Given the description of an element on the screen output the (x, y) to click on. 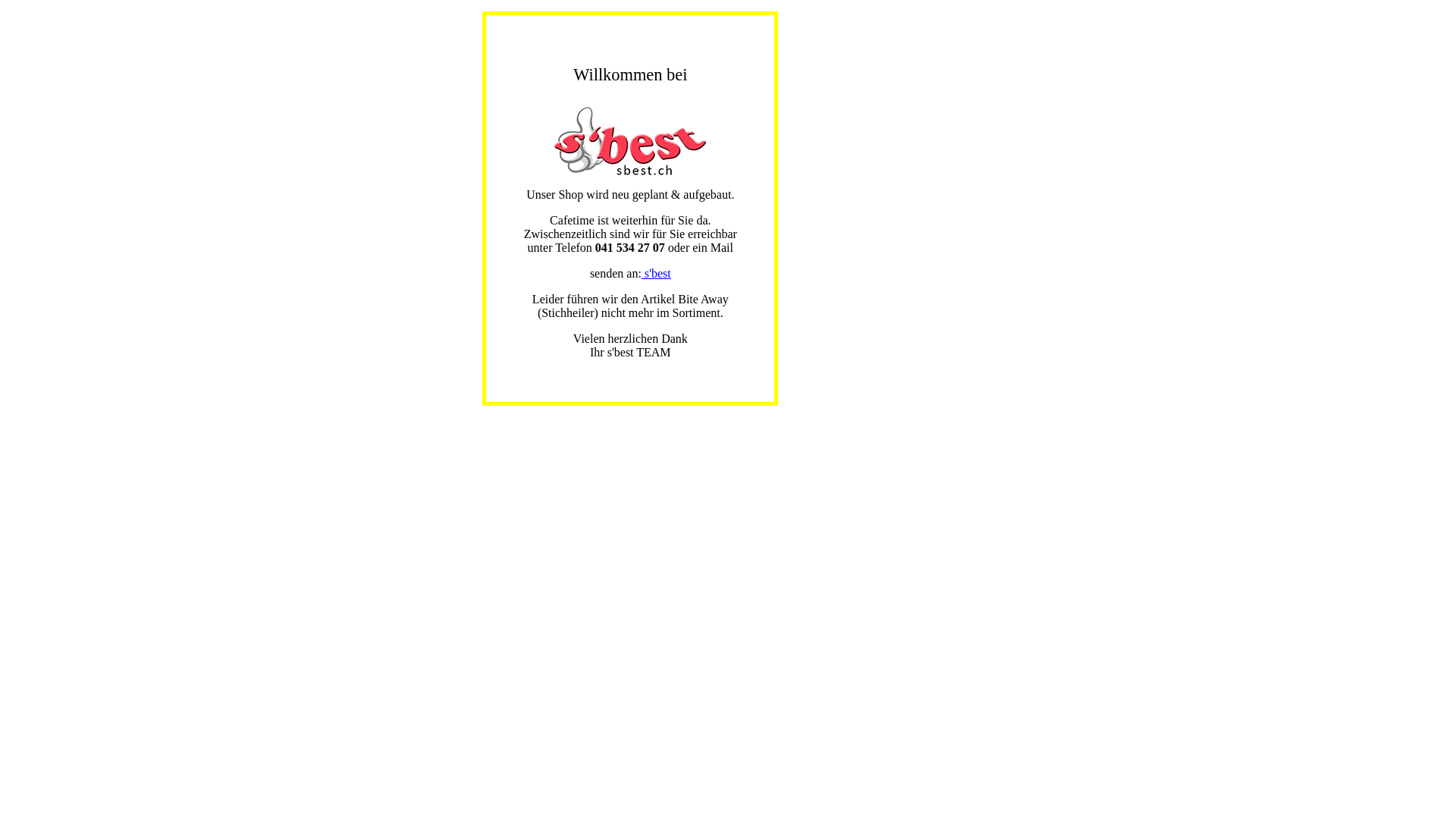
s'best Element type: text (656, 272)
